Given the description of an element on the screen output the (x, y) to click on. 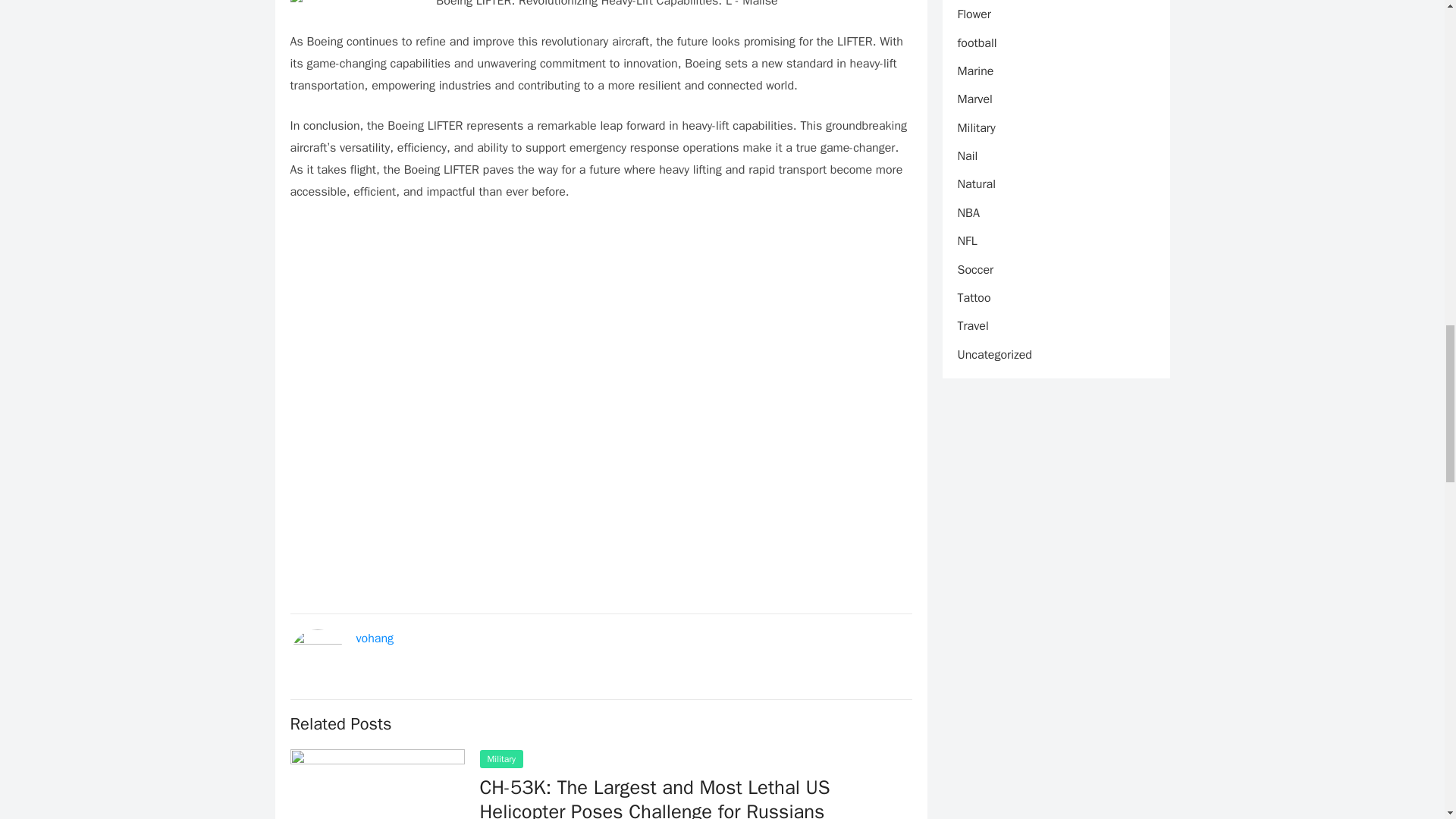
Military (500, 759)
vohang (375, 638)
